Given the description of an element on the screen output the (x, y) to click on. 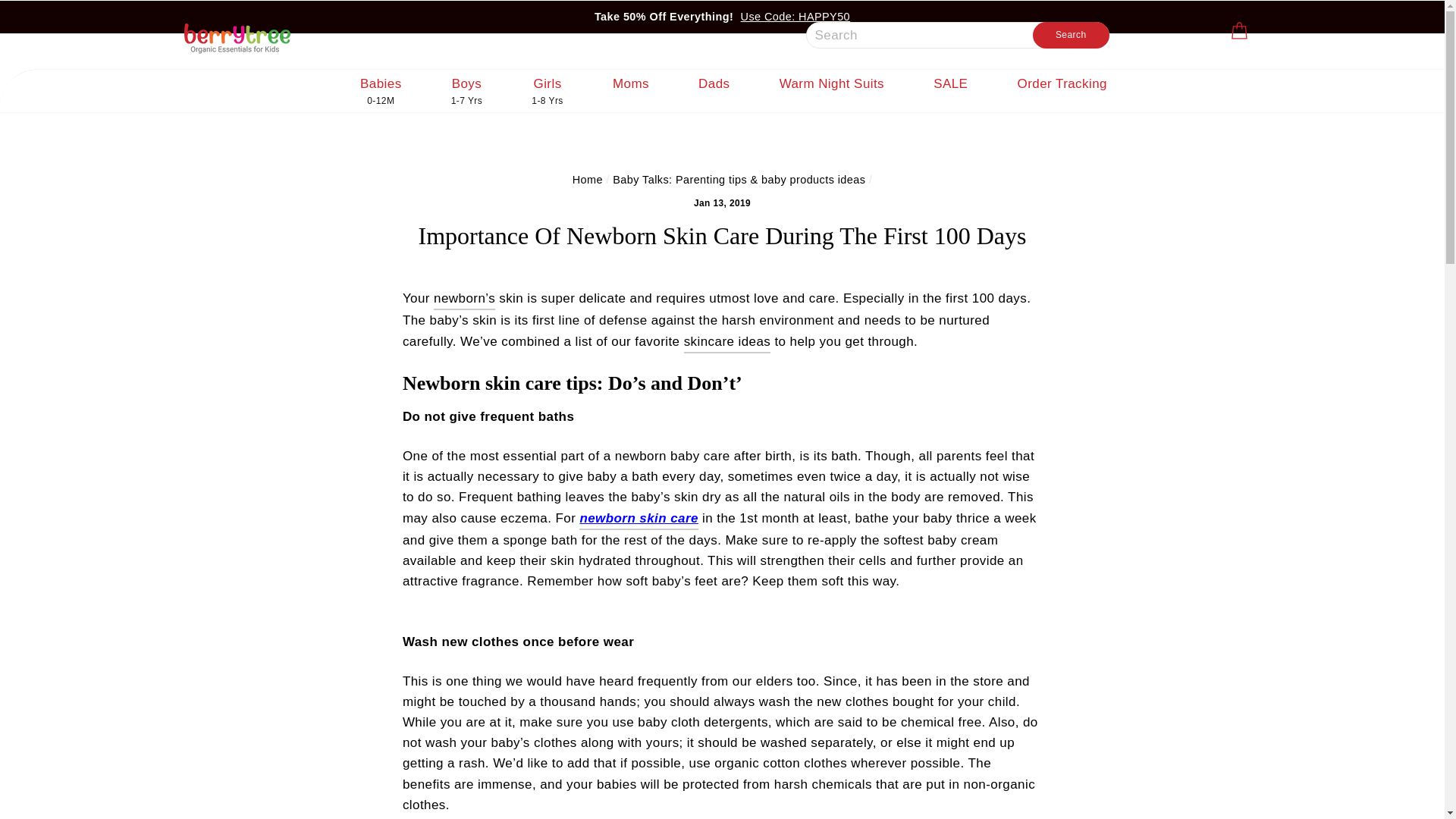
Back to the frontpage (587, 179)
